Given the description of an element on the screen output the (x, y) to click on. 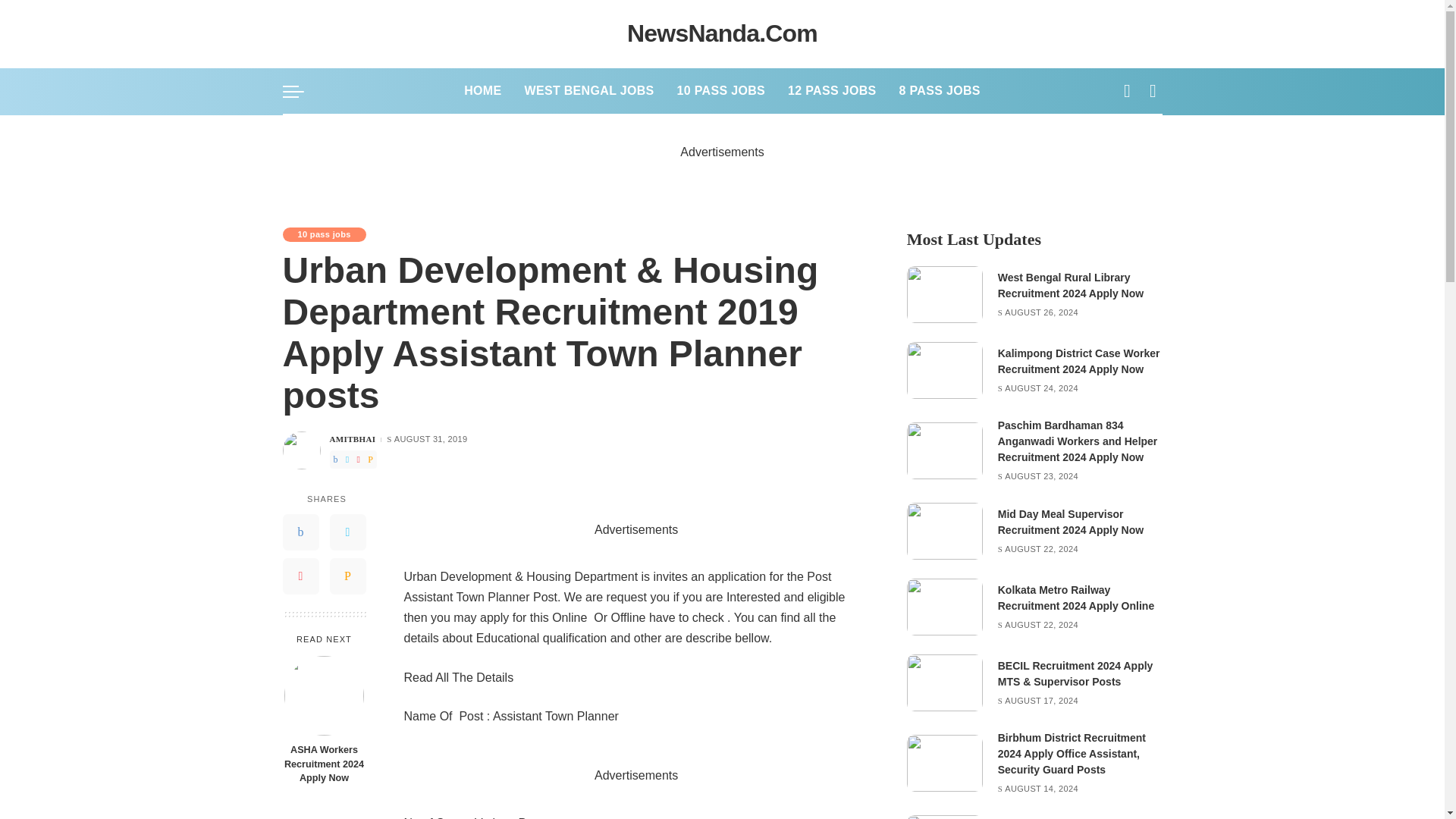
12 PASS JOBS (831, 90)
NewsNanda.Com (721, 33)
10 PASS JOBS (720, 90)
NewsNanda.Com (721, 33)
WEST BENGAL JOBS (588, 90)
Search (1140, 134)
8 PASS JOBS (939, 90)
HOME (482, 90)
